Given the description of an element on the screen output the (x, y) to click on. 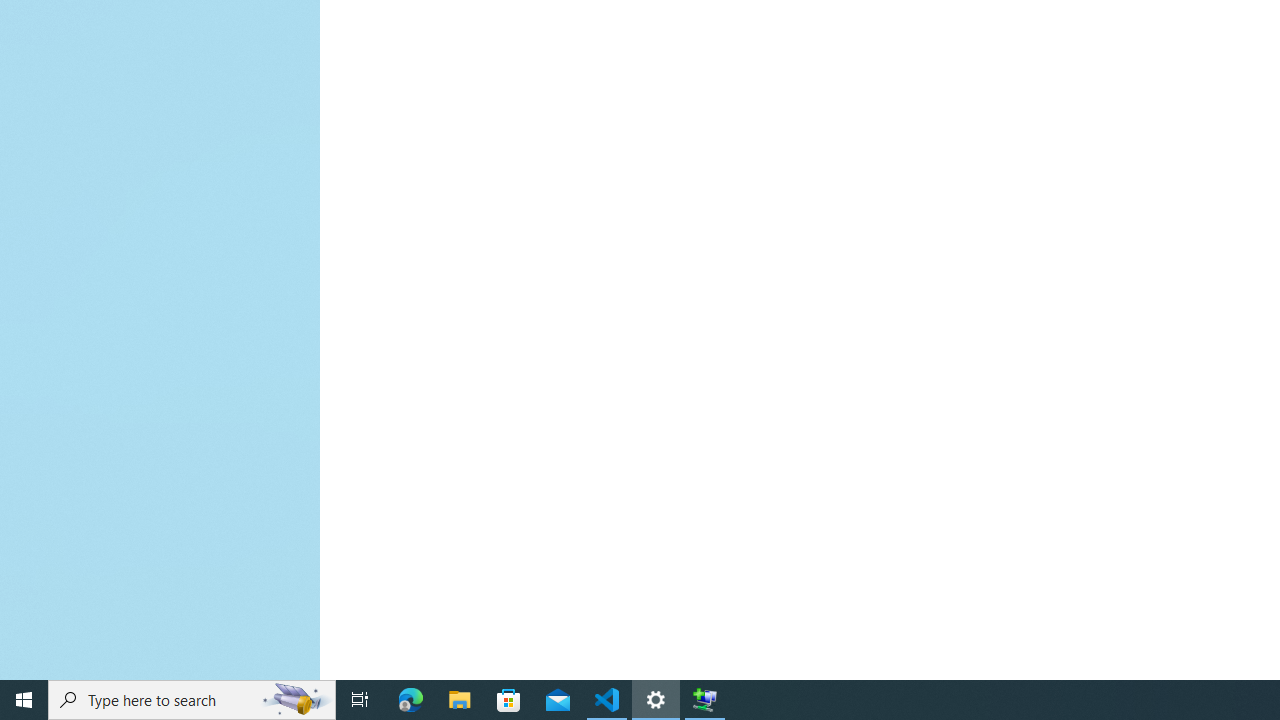
Settings - 1 running window (656, 699)
Extensible Wizards Host Process - 1 running window (704, 699)
